Given the description of an element on the screen output the (x, y) to click on. 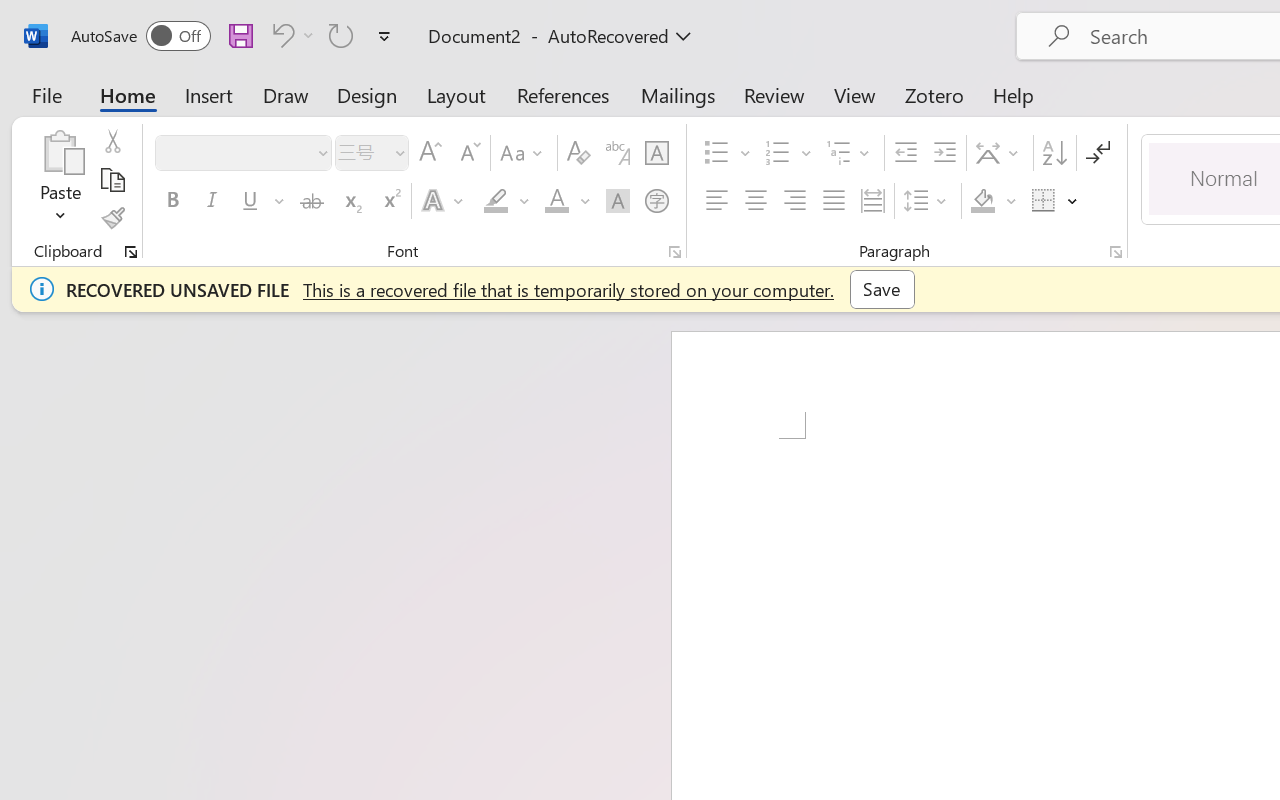
Phonetic Guide... (618, 153)
